Given the description of an element on the screen output the (x, y) to click on. 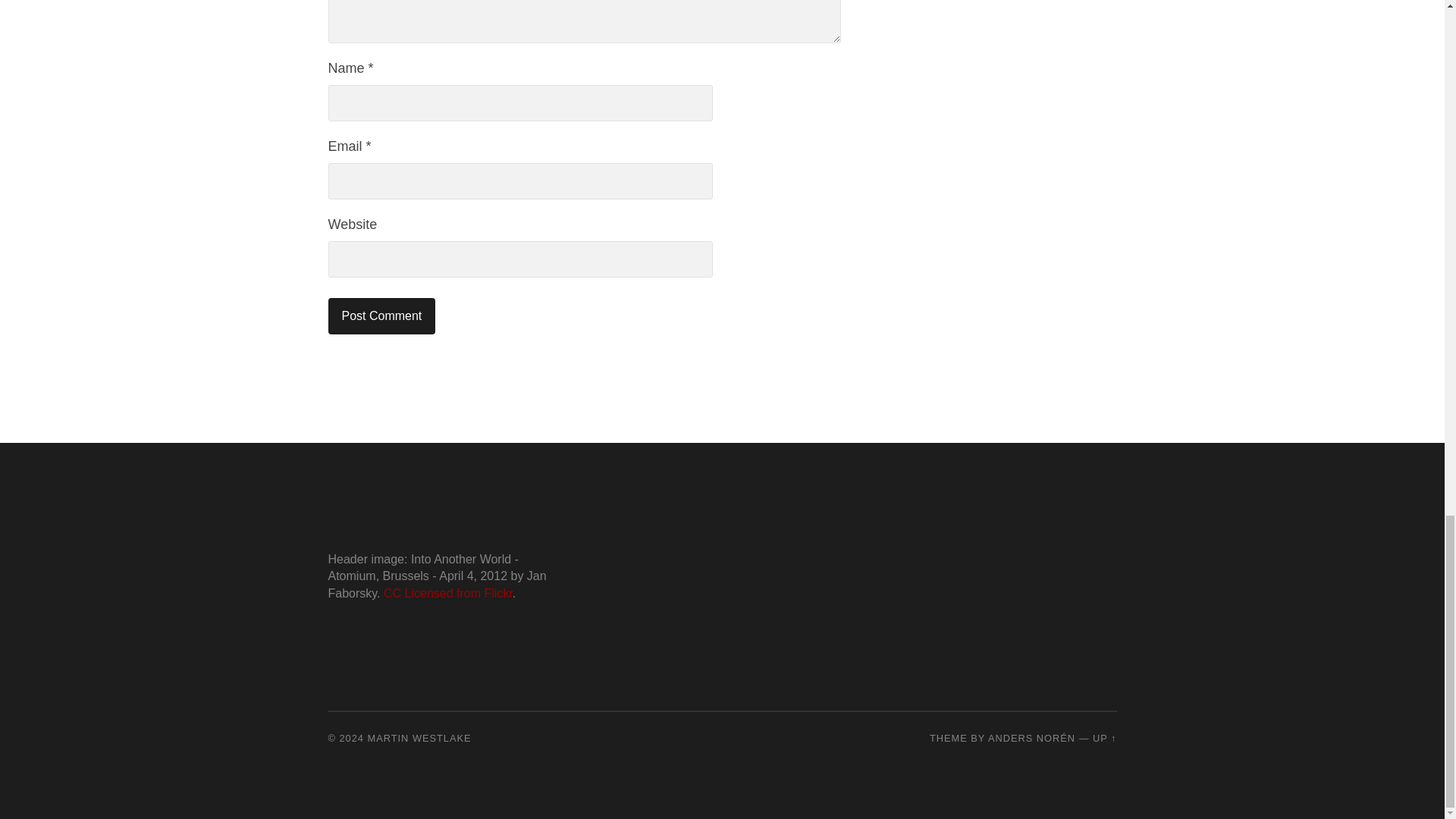
Post Comment (381, 316)
CC Licensed from Flickr (448, 593)
To the top (1104, 737)
MARTIN WESTLAKE (419, 737)
Post Comment (381, 316)
